Given the description of an element on the screen output the (x, y) to click on. 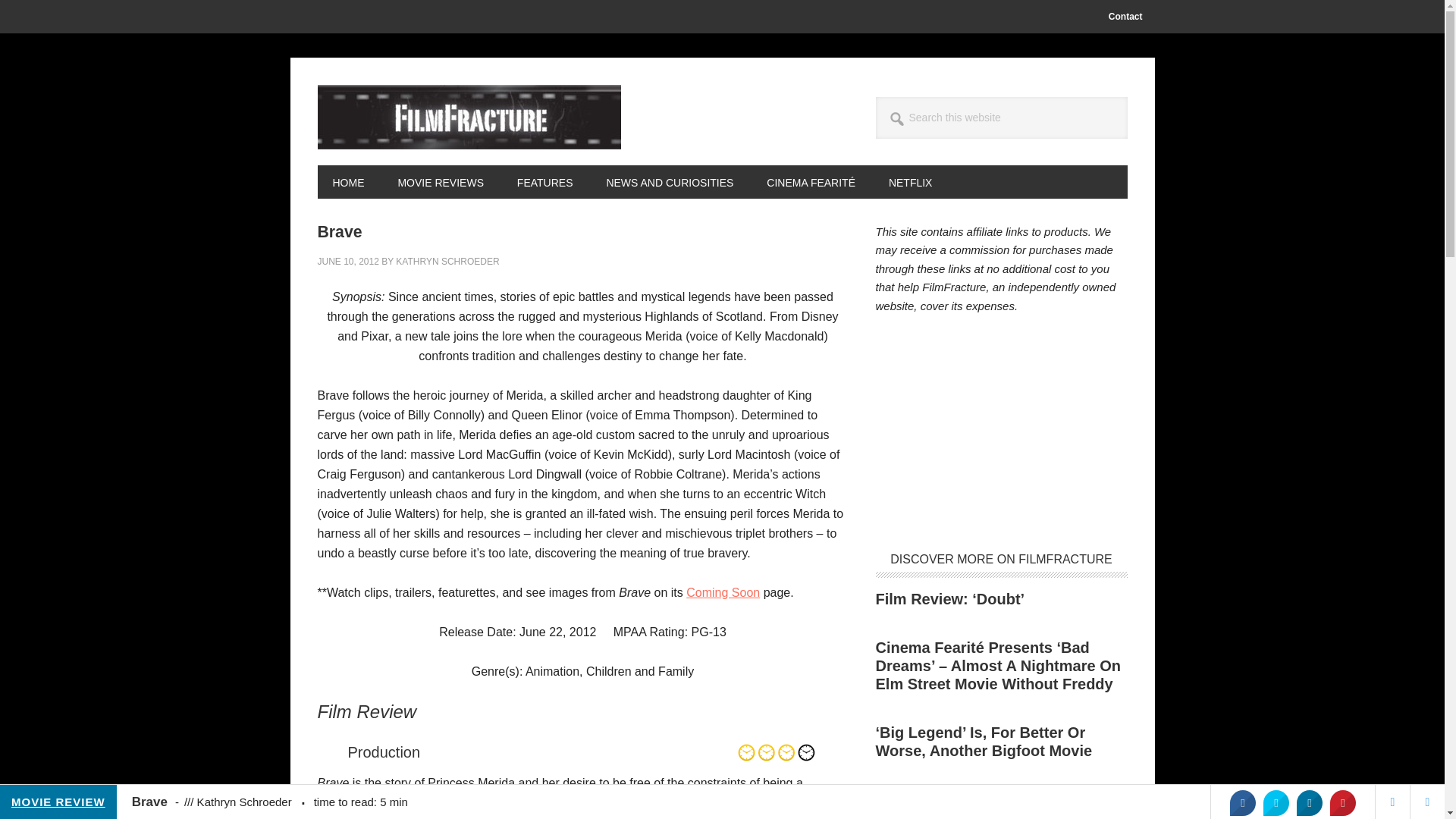
NEWS AND CURIOSITIES (669, 182)
Share on Facebook (1242, 802)
Share on Twitter (1275, 802)
MOVIE REVIEW (58, 801)
FEATURES (545, 182)
Share on Pinterest (1342, 802)
Share on Linkedin (1309, 802)
KATHRYN SCHROEDER (447, 261)
NETFLIX (910, 182)
Advertisement (1000, 434)
Contact (1125, 16)
HOME (347, 182)
Coming Soon (722, 592)
MOVIE REVIEWS (440, 182)
